Given the description of an element on the screen output the (x, y) to click on. 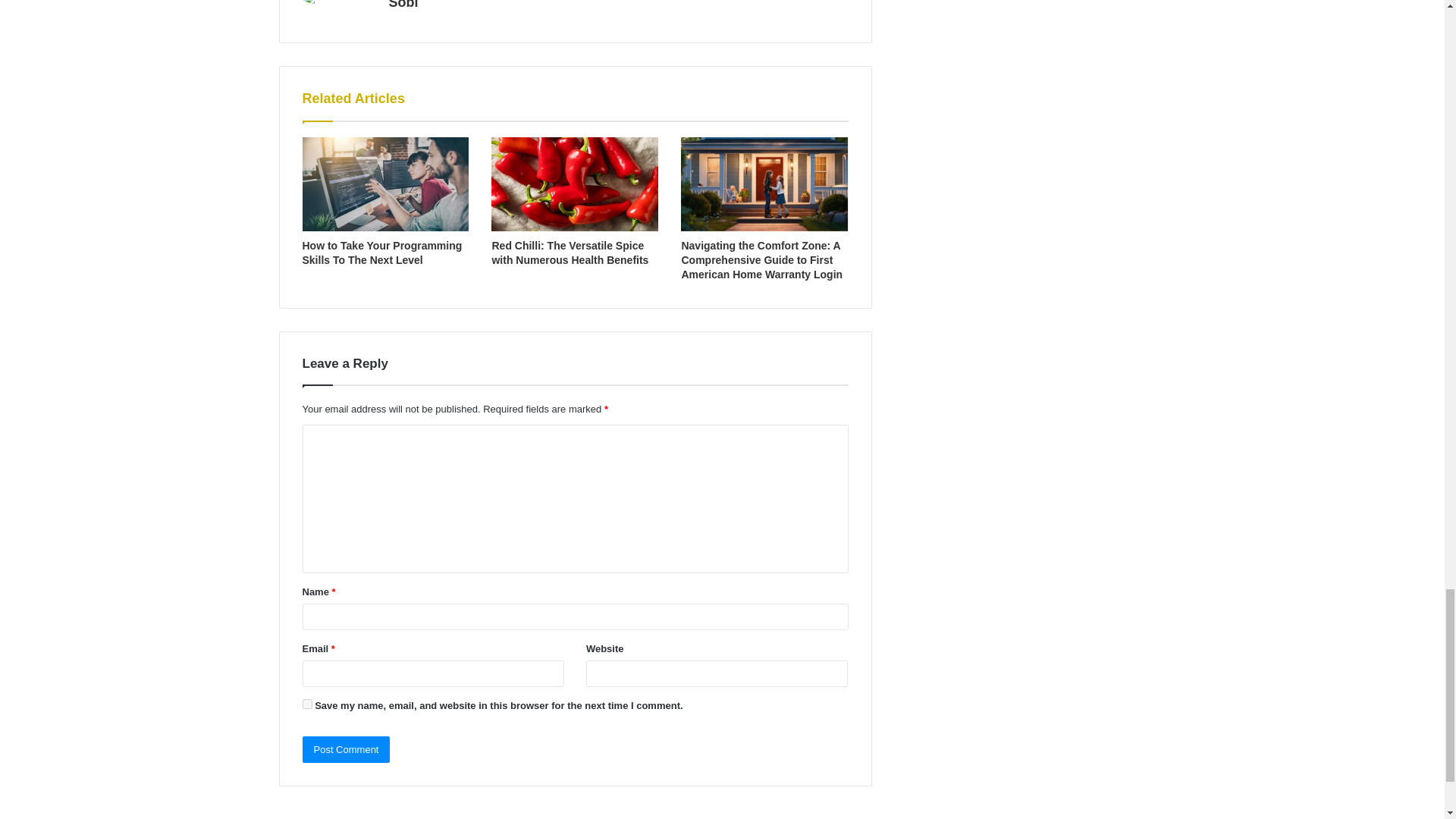
yes (306, 704)
Post Comment (345, 749)
